Given the description of an element on the screen output the (x, y) to click on. 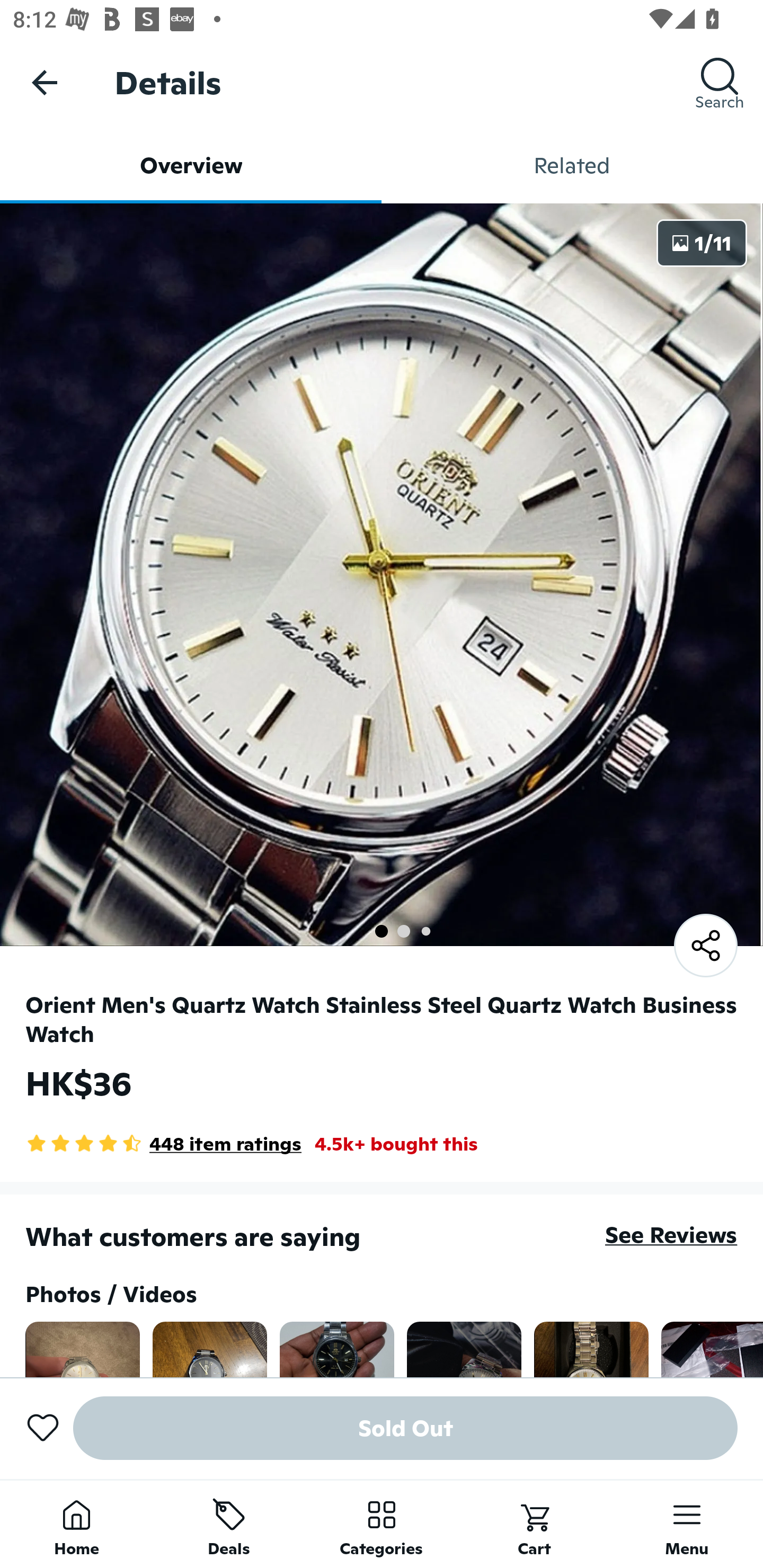
Navigate up (44, 82)
Search (719, 82)
Related (572, 165)
1/11 (701, 242)
4.6 Star Rating 448 item ratings (163, 1143)
See Reviews (671, 1234)
Sold Out (405, 1428)
Home (76, 1523)
Deals (228, 1523)
Categories (381, 1523)
Cart (533, 1523)
Menu (686, 1523)
